Given the description of an element on the screen output the (x, y) to click on. 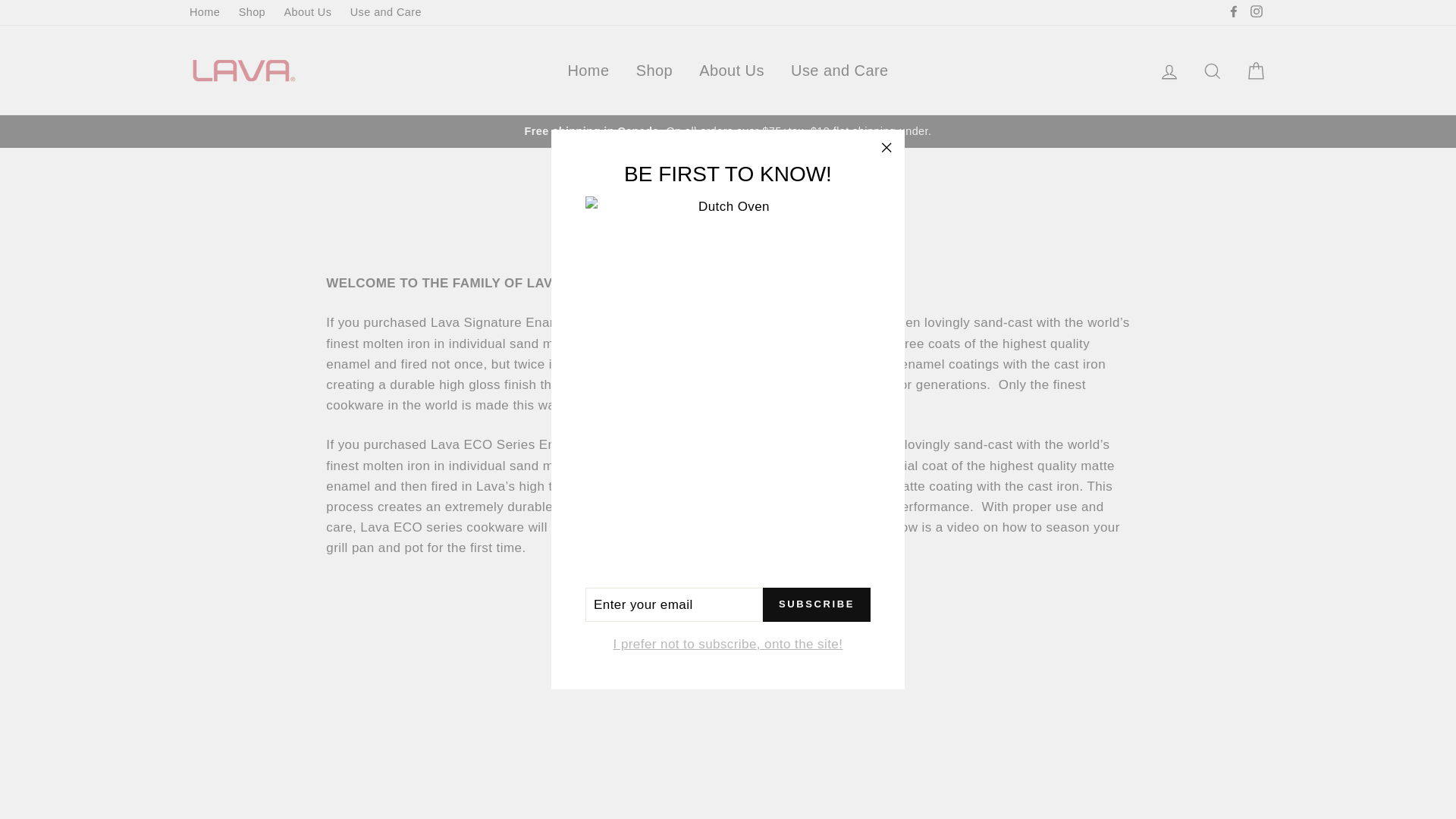
Use and Care (385, 12)
About Us (307, 12)
Home (204, 12)
Shop (252, 12)
